Given the description of an element on the screen output the (x, y) to click on. 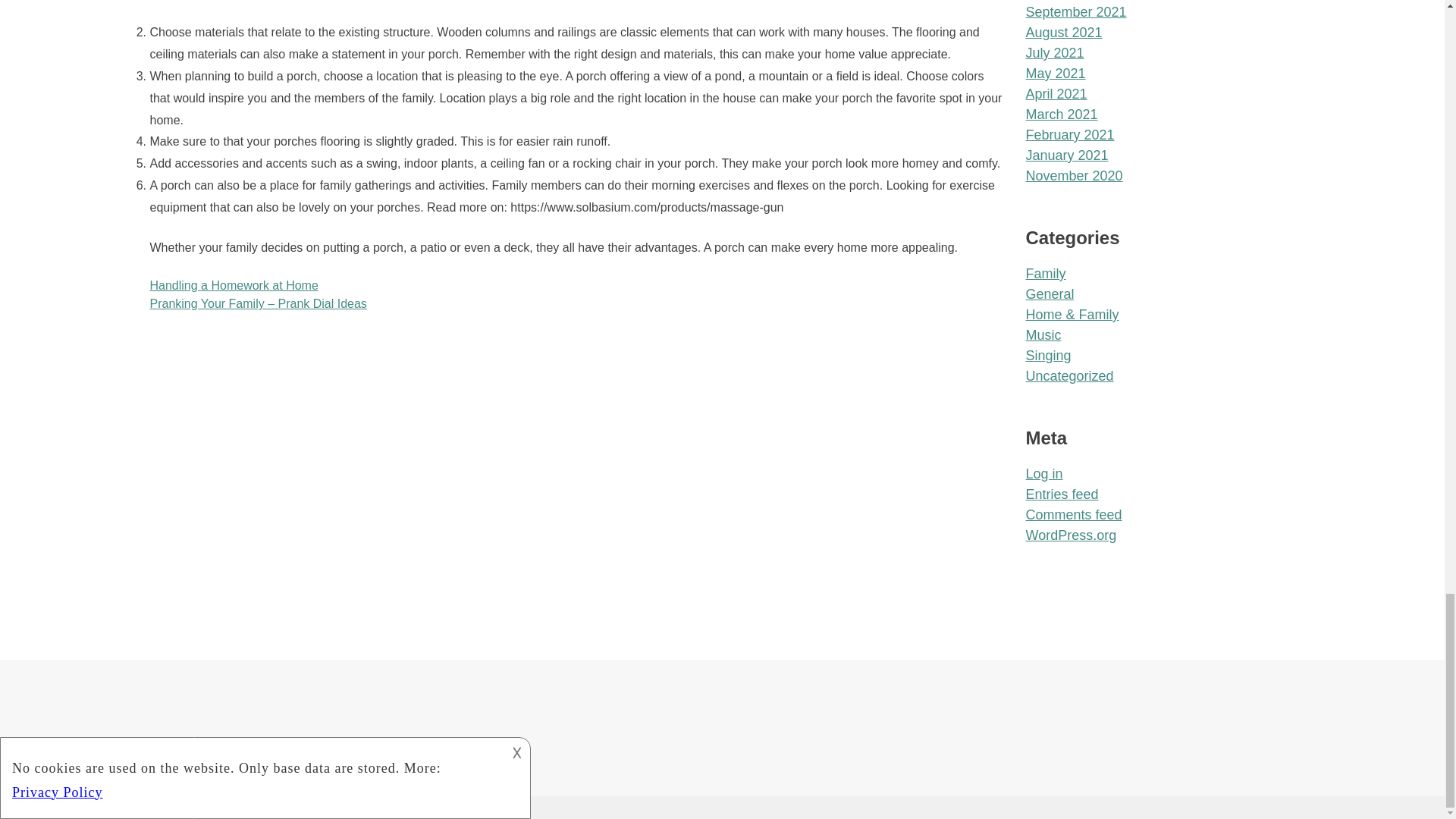
Handling a Homework at Home (233, 285)
